Given the description of an element on the screen output the (x, y) to click on. 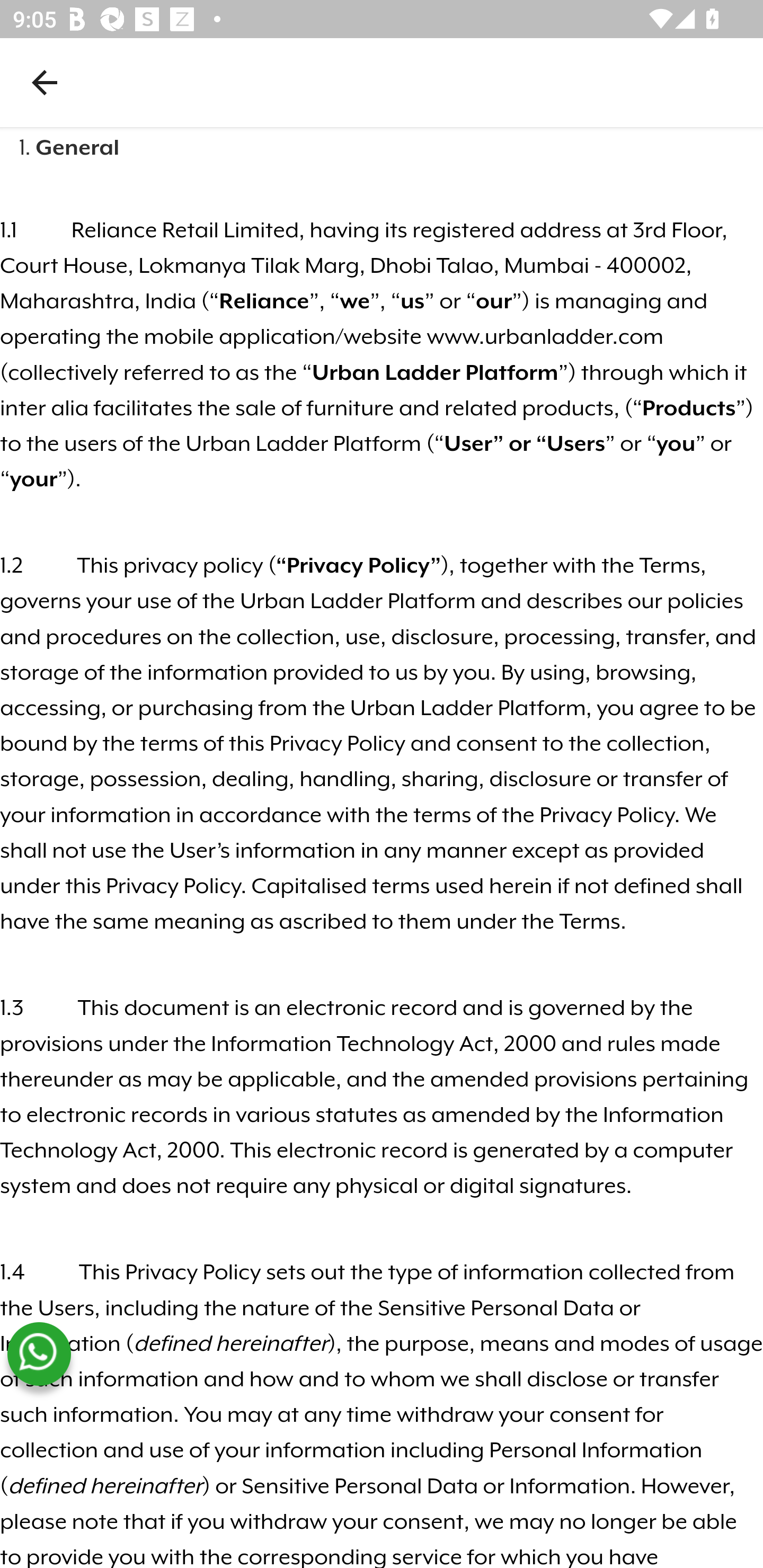
Navigate up (44, 82)
whatsapp (38, 1353)
